Given the description of an element on the screen output the (x, y) to click on. 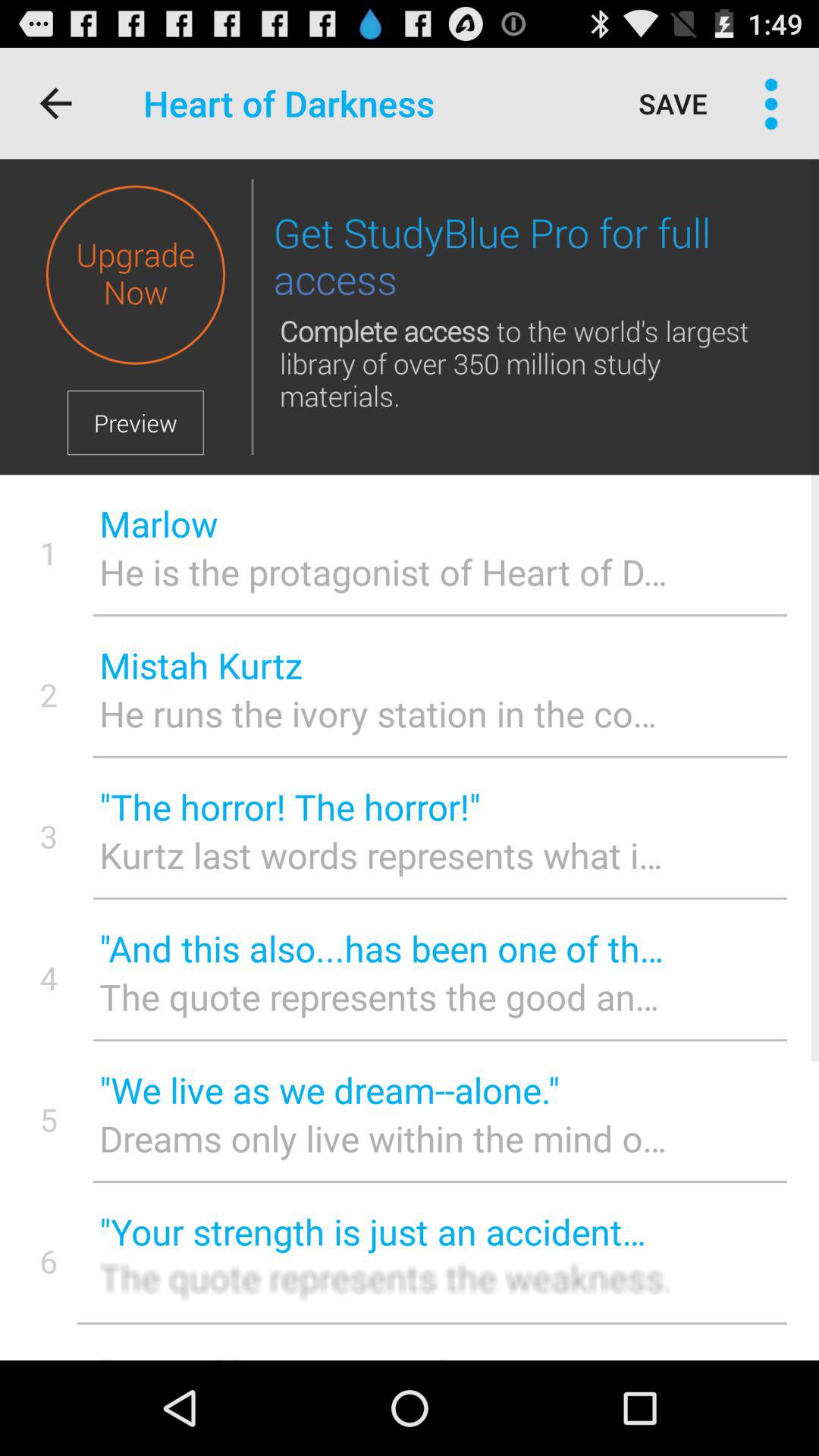
click on upgrade now (135, 275)
